Given the description of an element on the screen output the (x, y) to click on. 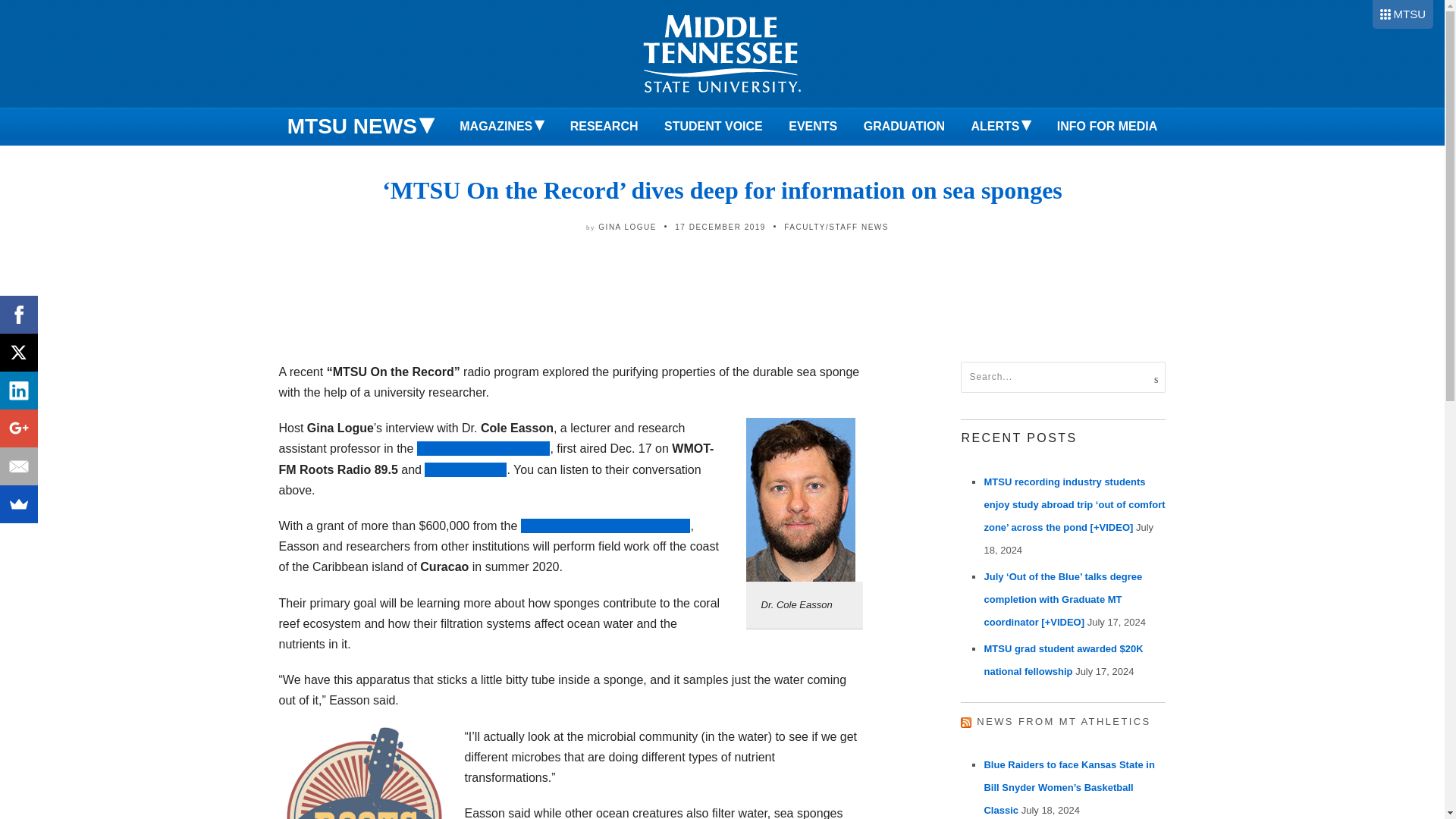
Posts by Gina Logue (627, 226)
December 17, 2019 12:11 (720, 226)
